Given the description of an element on the screen output the (x, y) to click on. 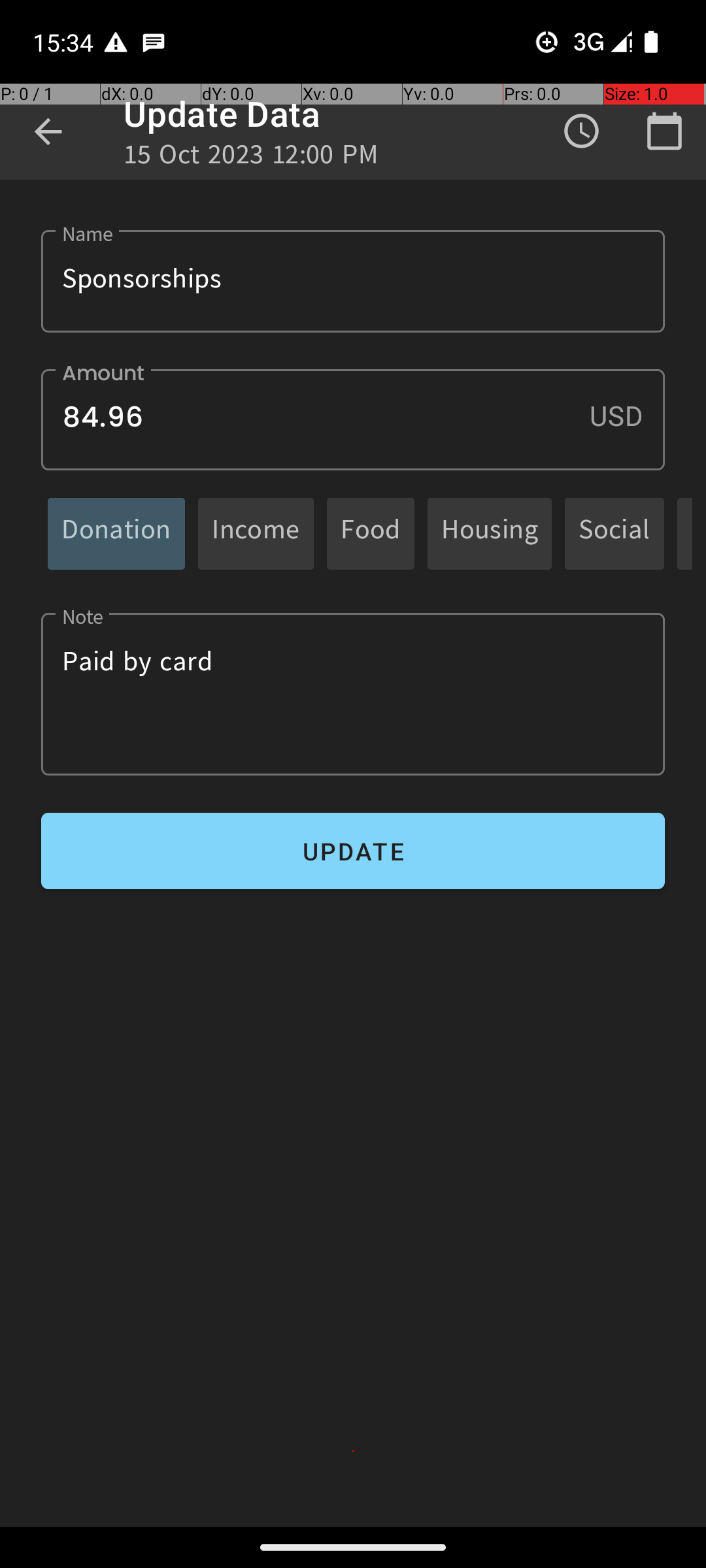
15 Oct 2023 12:00 PM Element type: android.widget.TextView (250, 157)
Sponsorships Element type: android.widget.EditText (352, 280)
84.96 Element type: android.widget.EditText (352, 419)
Paid by card Element type: android.widget.EditText (352, 693)
Donation Element type: android.widget.TextView (116, 533)
